Given the description of an element on the screen output the (x, y) to click on. 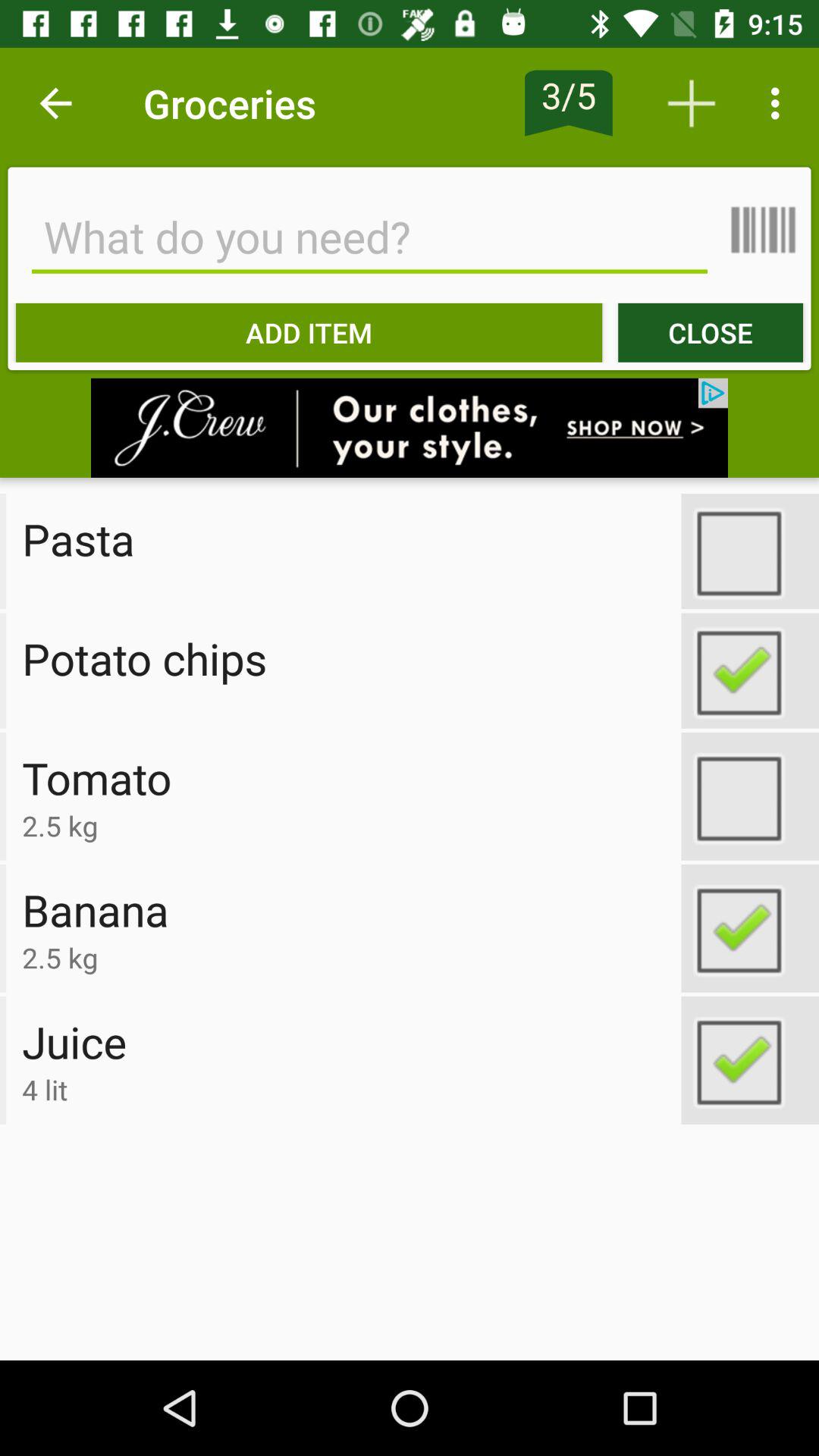
advertisement (409, 427)
